Given the description of an element on the screen output the (x, y) to click on. 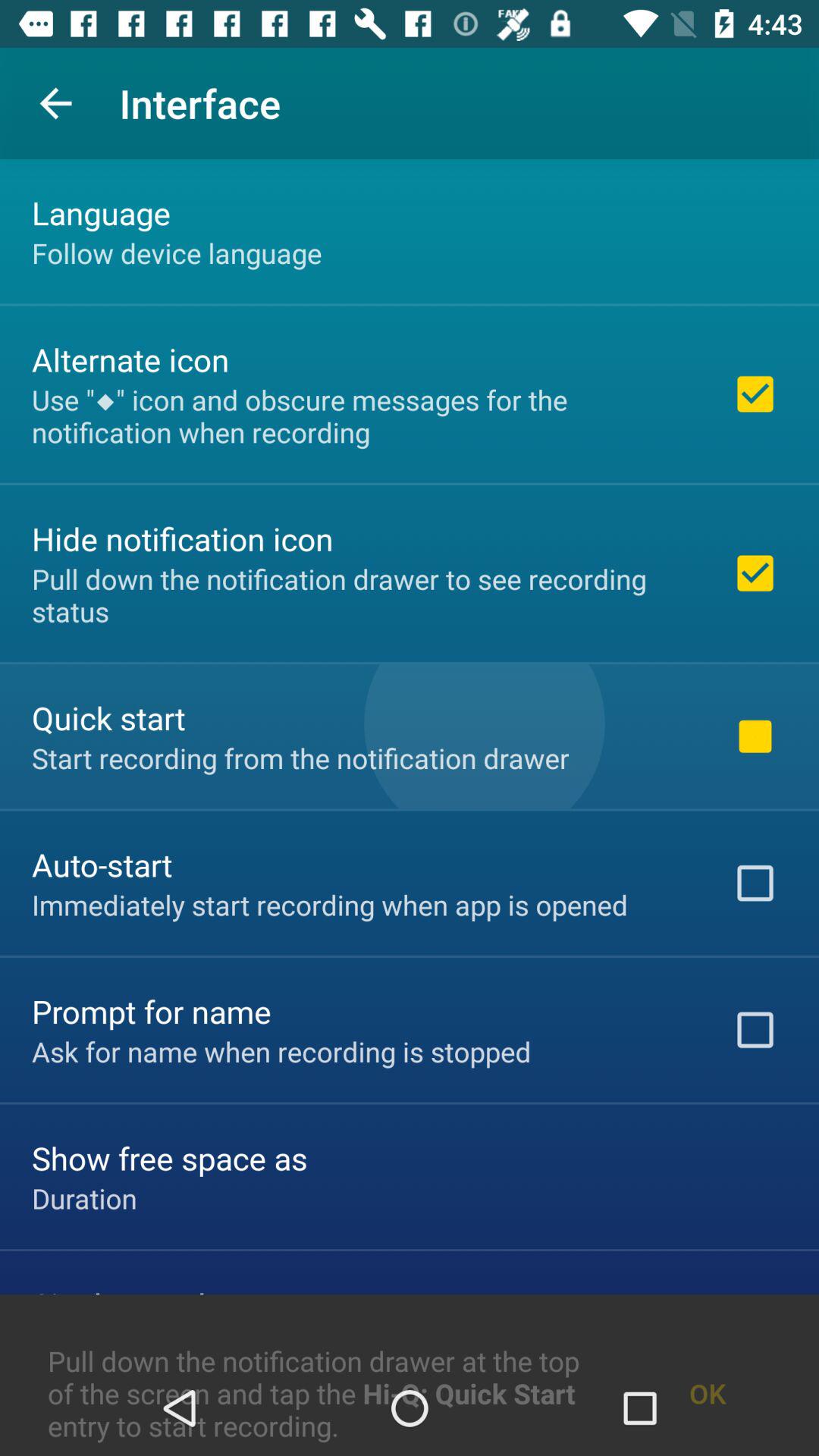
turn off item below the show free space icon (84, 1198)
